Given the description of an element on the screen output the (x, y) to click on. 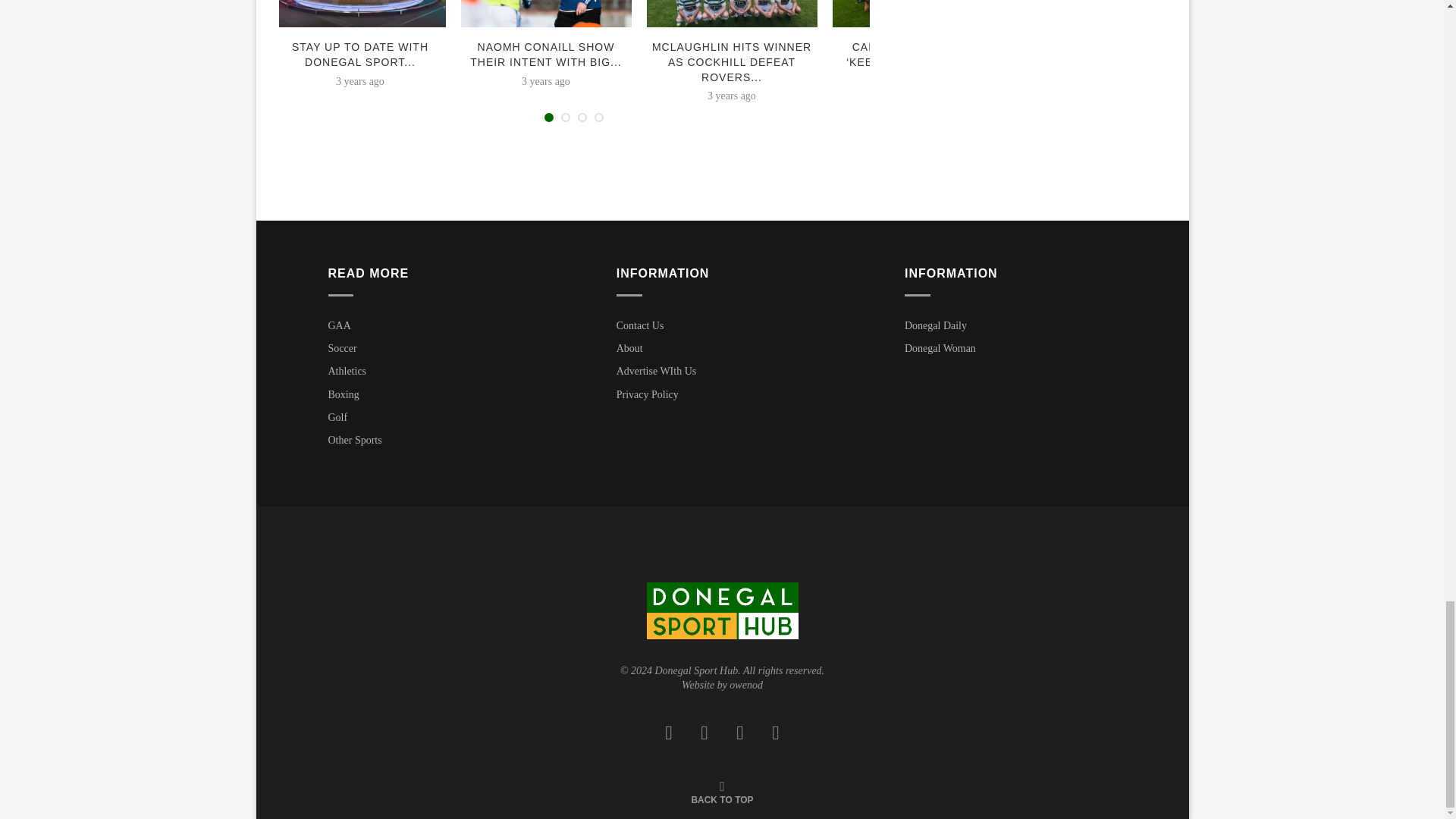
Stay up to date with Donegal Sport Hub on Facebook (360, 13)
